Given the description of an element on the screen output the (x, y) to click on. 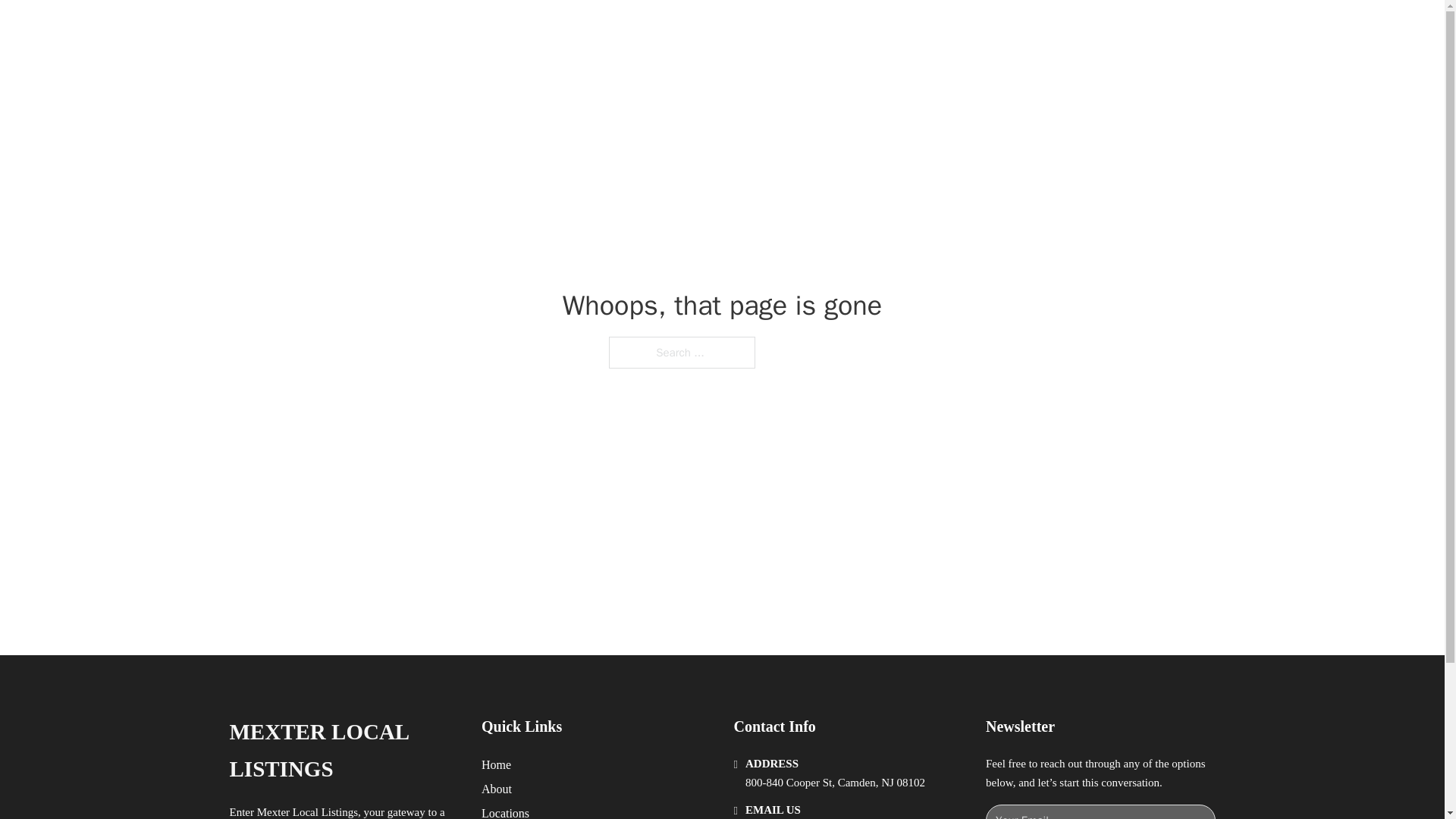
Home (496, 764)
MEXTER LOCAL LISTINGS (343, 750)
MEXTER LOCAL LISTINGS (433, 28)
Locations (505, 811)
About (496, 788)
About (1003, 29)
